Given the description of an element on the screen output the (x, y) to click on. 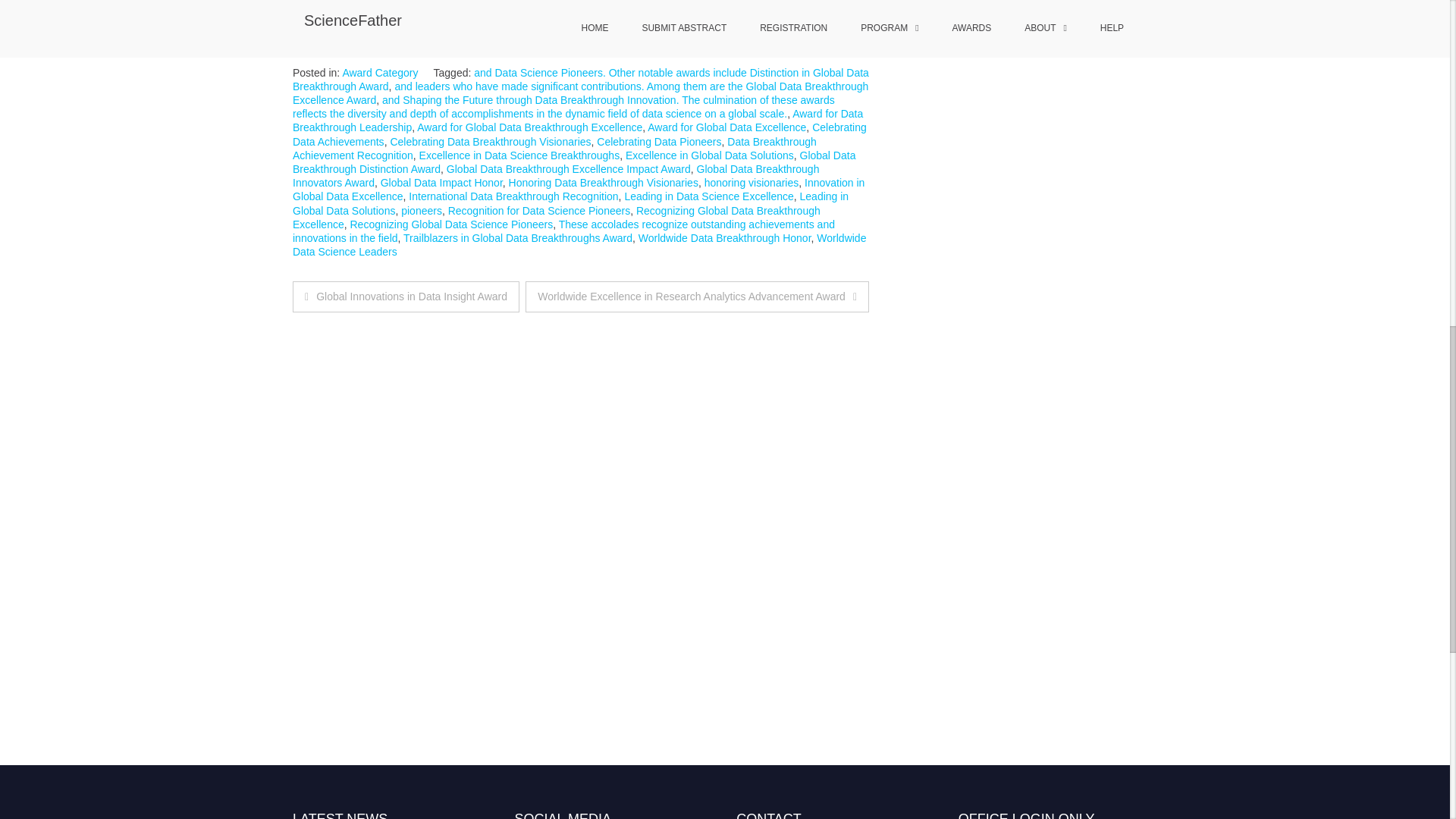
Excellence in Data Science Breakthroughs (519, 155)
Celebrating Data Breakthrough Visionaries (490, 141)
Data Breakthrough Achievement Recognition (554, 148)
Award for Data Breakthrough Leadership (577, 120)
Celebrating Data Achievements (579, 134)
Award for Global Data Excellence (726, 127)
Award Category (379, 72)
Award for Global Data Breakthrough Excellence (529, 127)
Celebrating Data Pioneers (658, 141)
